Given the description of an element on the screen output the (x, y) to click on. 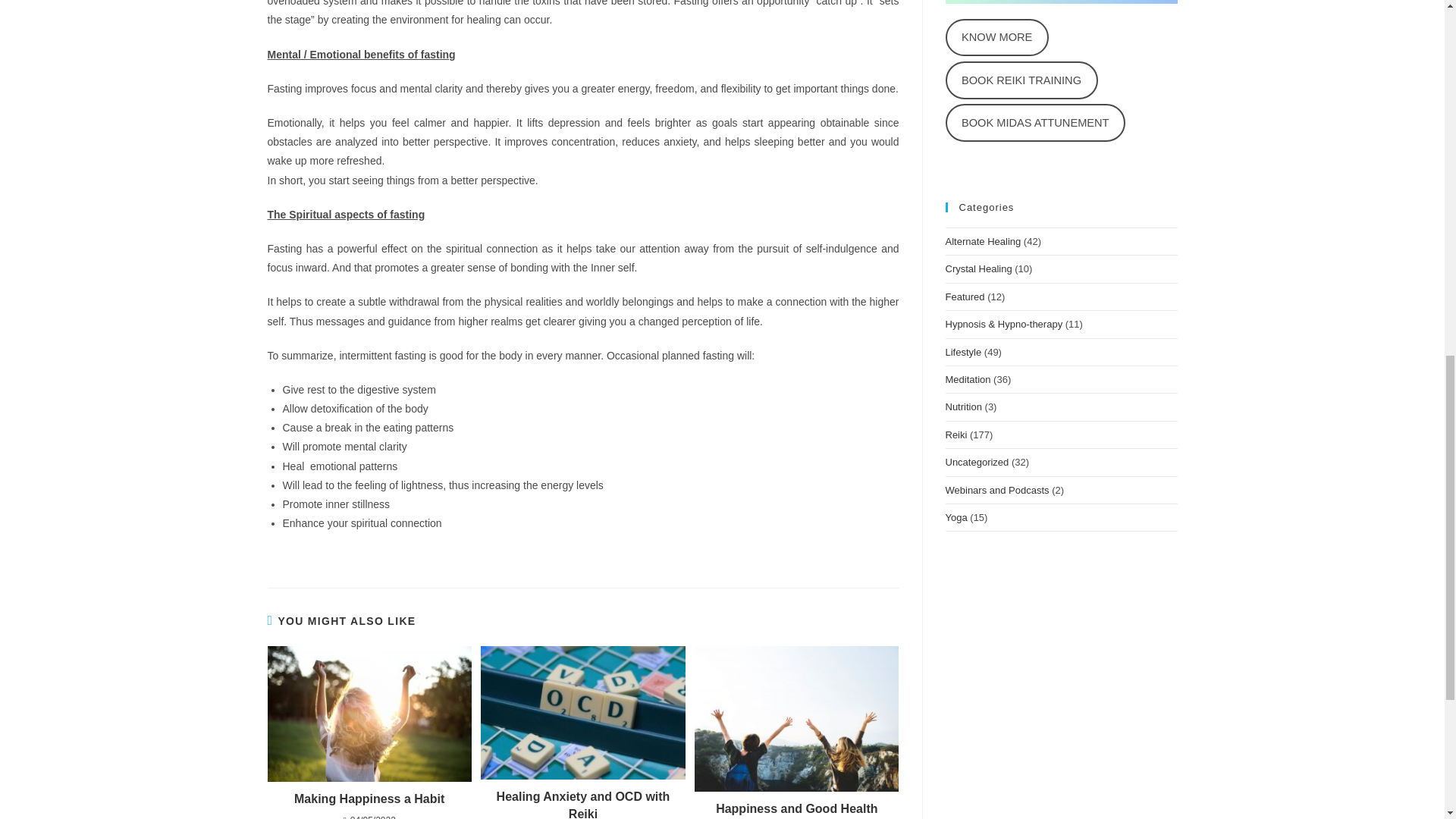
Alternate Healing (982, 241)
Happiness and Good Health (796, 808)
KNOW MORE (996, 37)
Healing Anxiety and OCD with Reiki (582, 803)
Crystal Healing (977, 268)
BOOK REIKI TRAINING (1020, 80)
Making Happiness a Habit (368, 799)
BOOK MIDAS ATTUNEMENT (1034, 122)
